Given the description of an element on the screen output the (x, y) to click on. 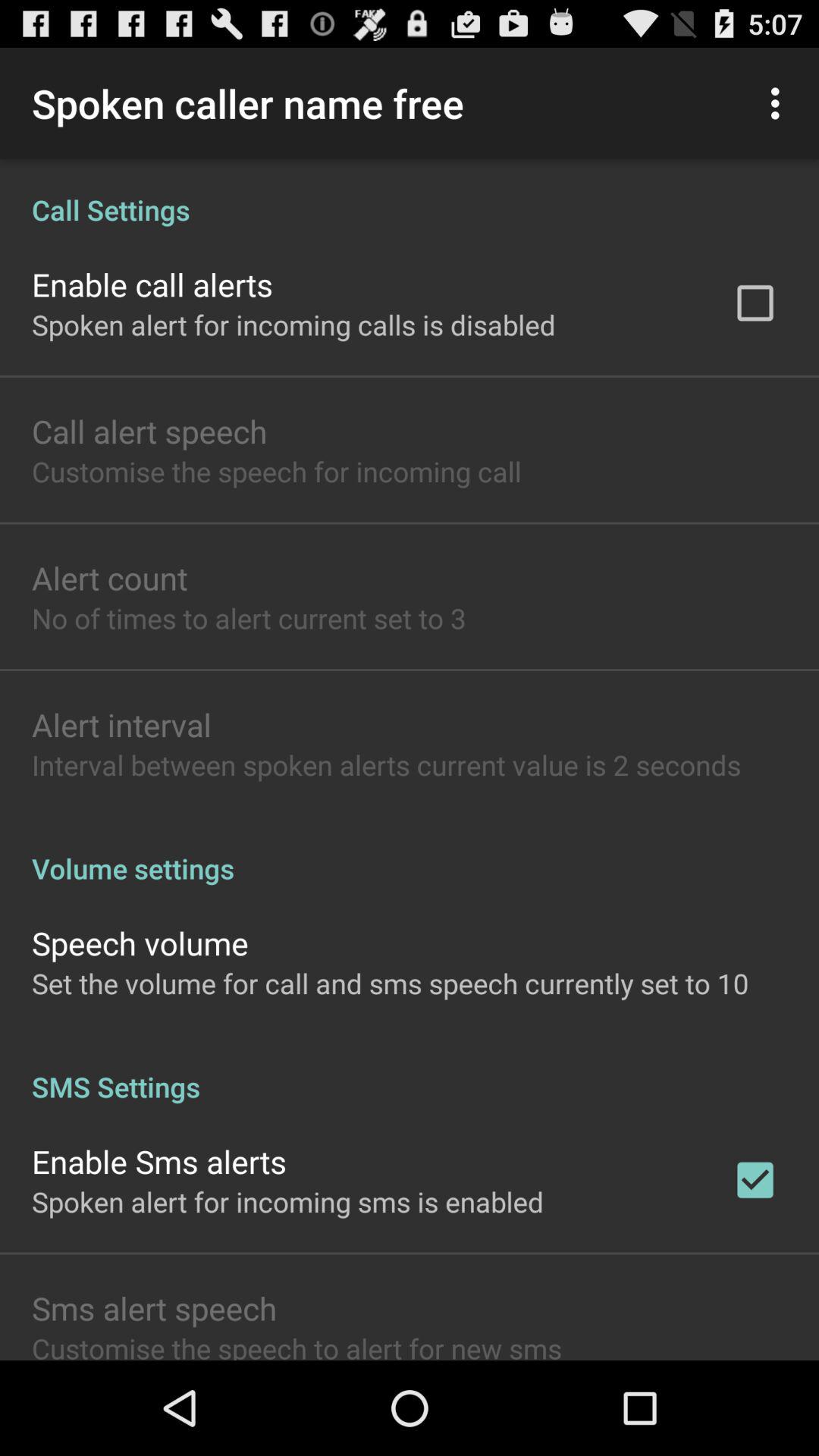
tap the item to the right of spoken caller name item (779, 103)
